Given the description of an element on the screen output the (x, y) to click on. 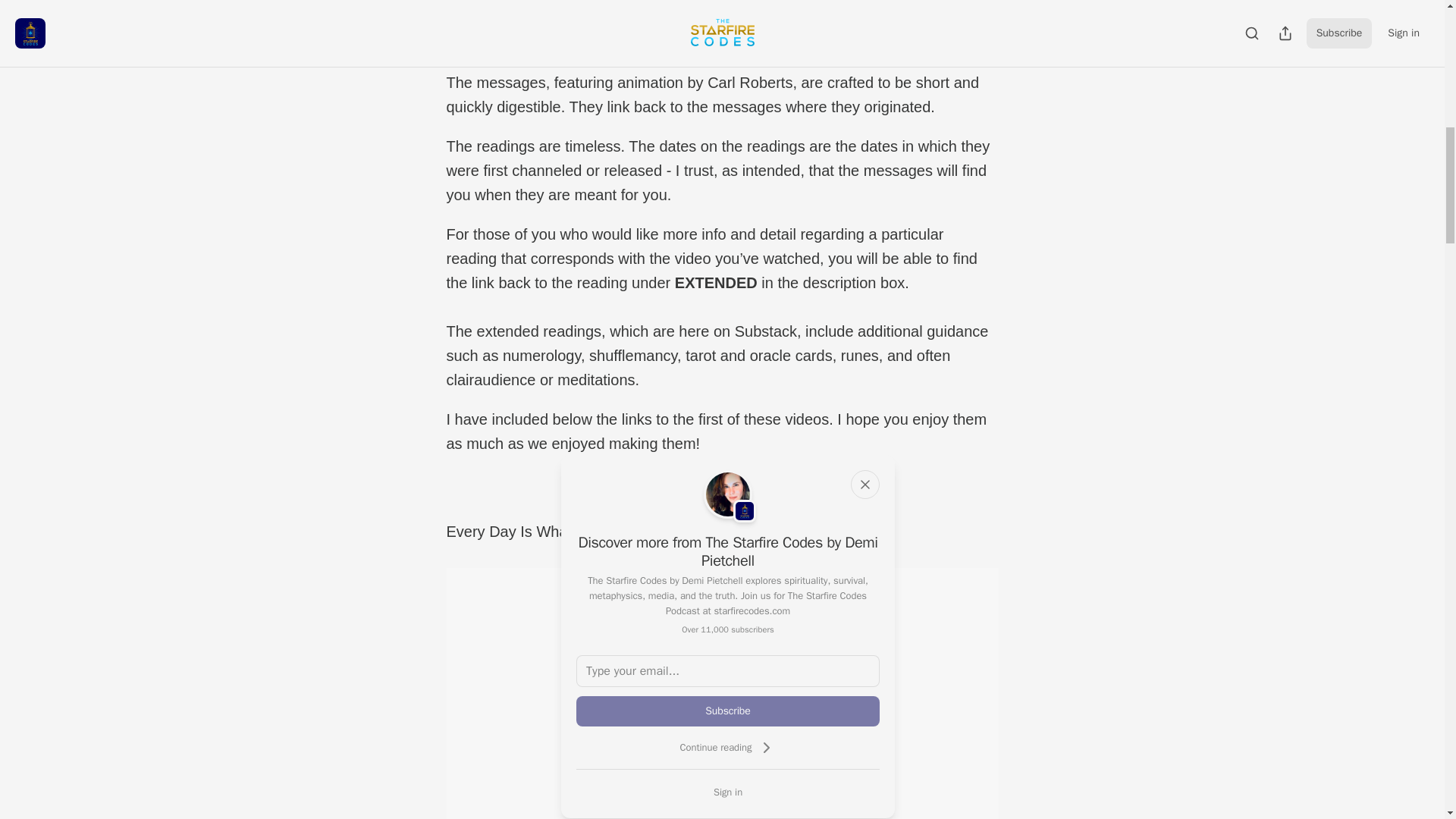
Subscribe to Starfire Codes on YouTube (721, 487)
Sign in (727, 791)
Subscribe (727, 711)
